Given the description of an element on the screen output the (x, y) to click on. 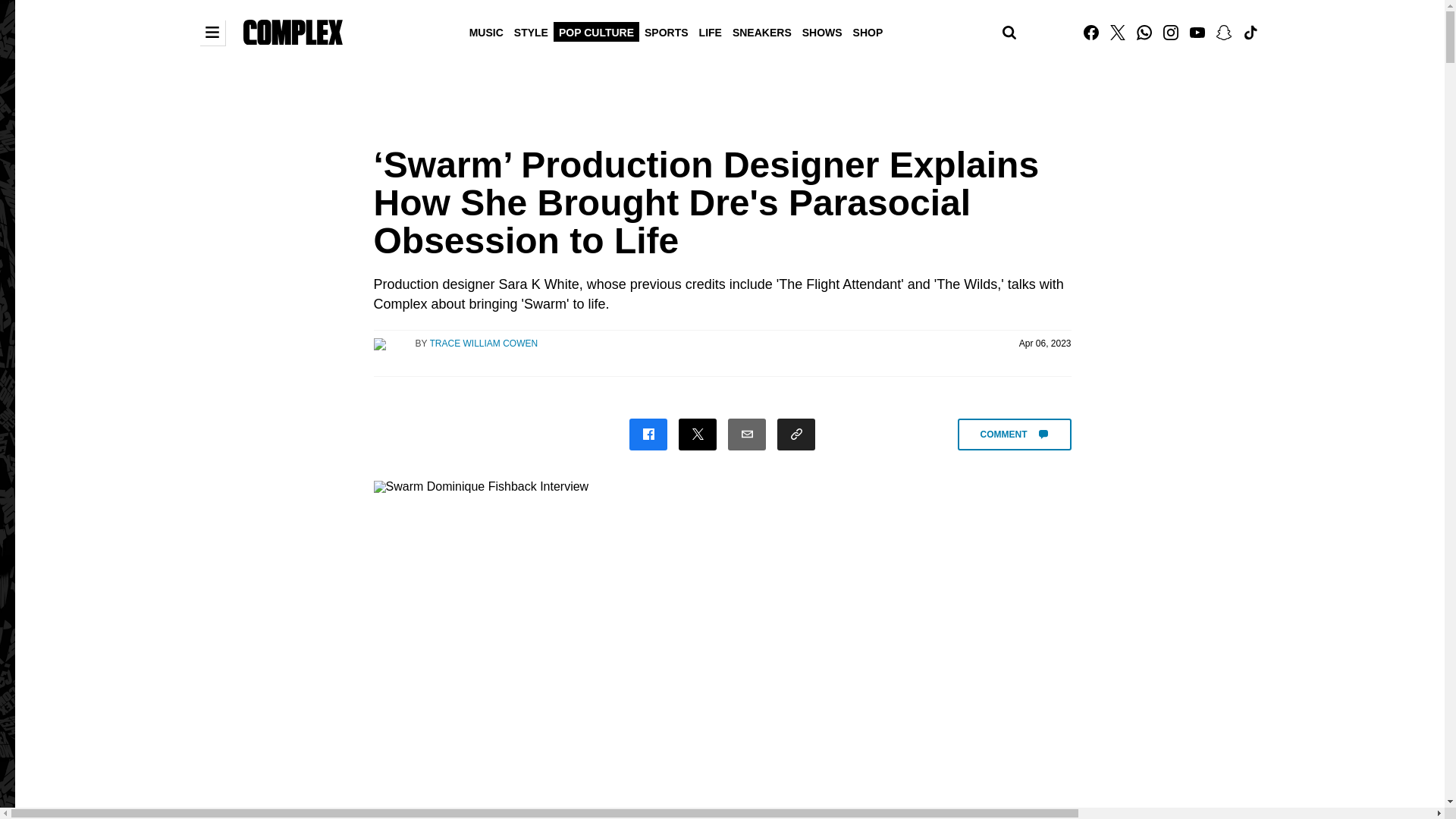
SHOP (867, 30)
LIFE (710, 30)
STYLE (530, 30)
SNEAKERS (761, 30)
SPORTS (666, 30)
MUSIC (486, 30)
POP CULTURE (596, 30)
SHOWS (821, 30)
